Given the description of an element on the screen output the (x, y) to click on. 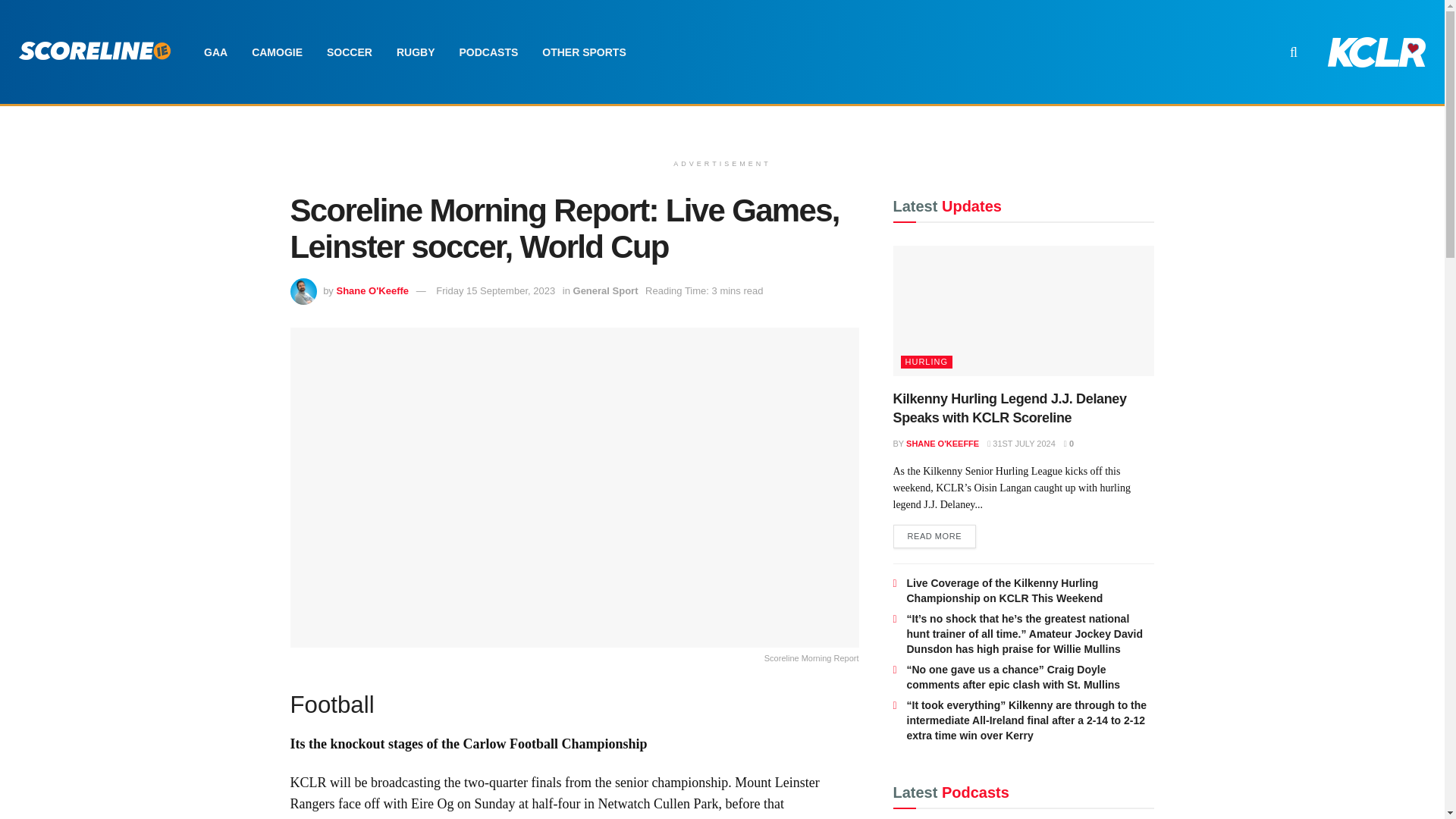
SHANE O'KEEFFE (941, 442)
HURLING (927, 361)
READ MORE (934, 536)
OTHER SPORTS (583, 52)
PODCASTS (487, 52)
RUGBY (415, 52)
Friday 15 September, 2023 (494, 290)
CAMOGIE (277, 52)
31ST JULY 2024 (1021, 442)
GAA (216, 52)
0 (1069, 442)
Shane O'Keeffe (372, 290)
